Given the description of an element on the screen output the (x, y) to click on. 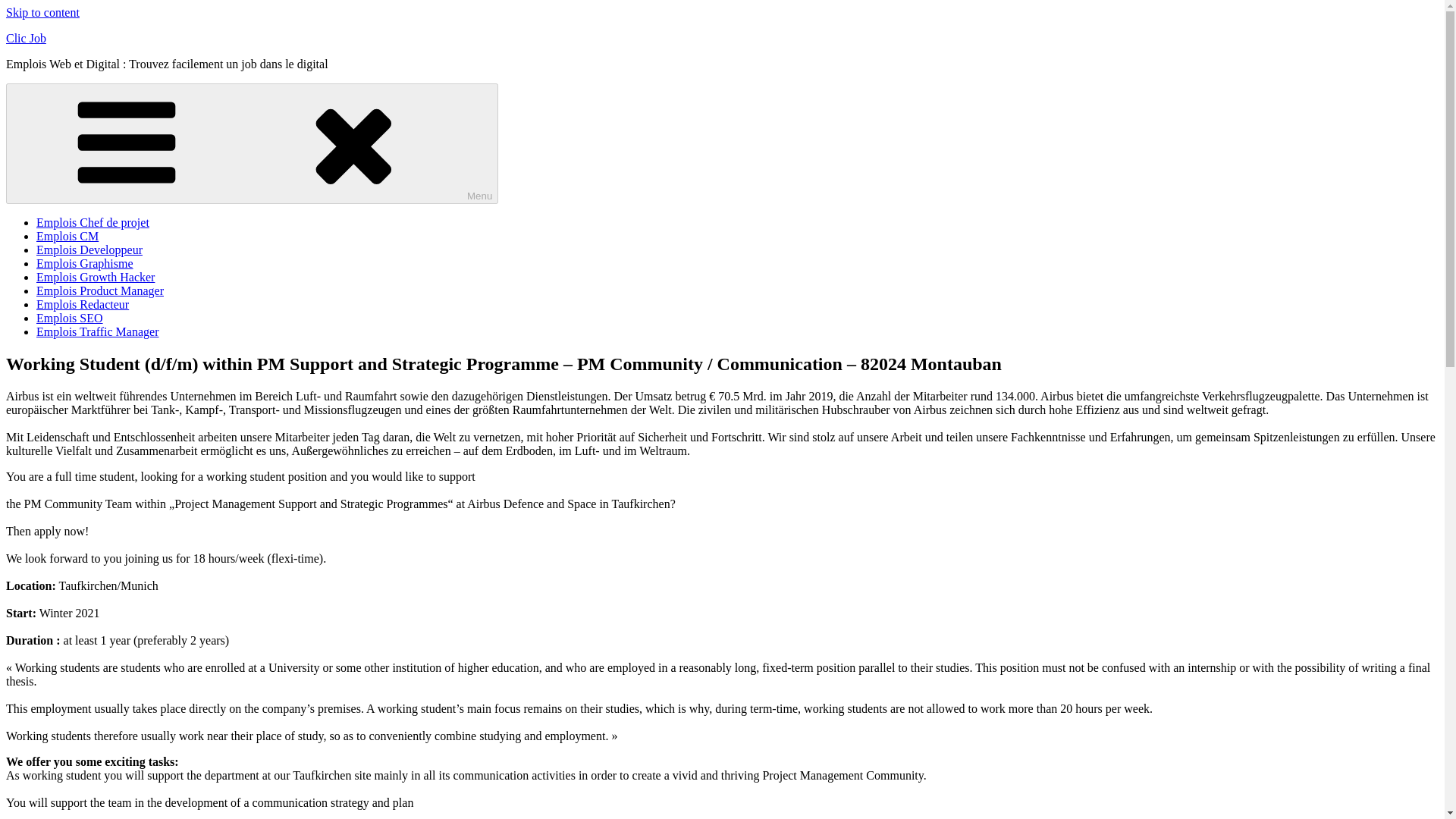
Emplois Growth Hacker (95, 277)
Skip to content (42, 11)
Clic Job (25, 38)
Emplois SEO (69, 318)
Emplois Developpeur (89, 249)
Emplois Chef de projet (92, 222)
Emplois Product Manager (99, 290)
Emplois Traffic Manager (97, 331)
Emplois Graphisme (84, 263)
Emplois CM (67, 236)
Menu (251, 143)
Emplois Redacteur (82, 304)
